Given the description of an element on the screen output the (x, y) to click on. 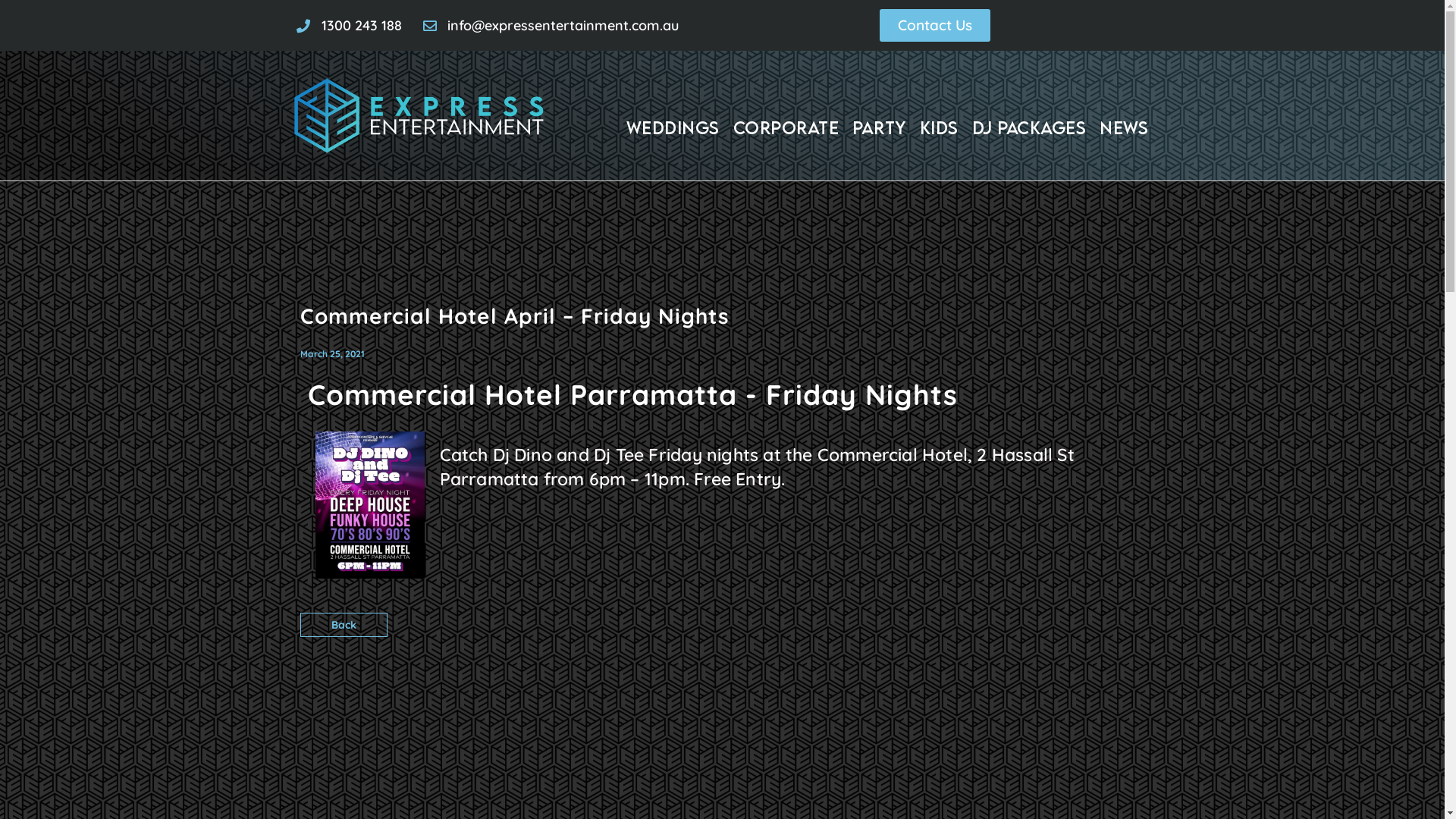
News Element type: text (1123, 127)
Contact Us Element type: text (934, 25)
Corporate Element type: text (786, 127)
Weddings Element type: text (672, 127)
1300 243 188 Element type: text (348, 25)
Party Element type: text (879, 127)
info@expressentertainment.com.au Element type: text (551, 25)
Kids Element type: text (938, 127)
Back Element type: text (343, 624)
DJ Packages Element type: text (1029, 127)
Share on Facebook Element type: hover (1128, 631)
